Given the description of an element on the screen output the (x, y) to click on. 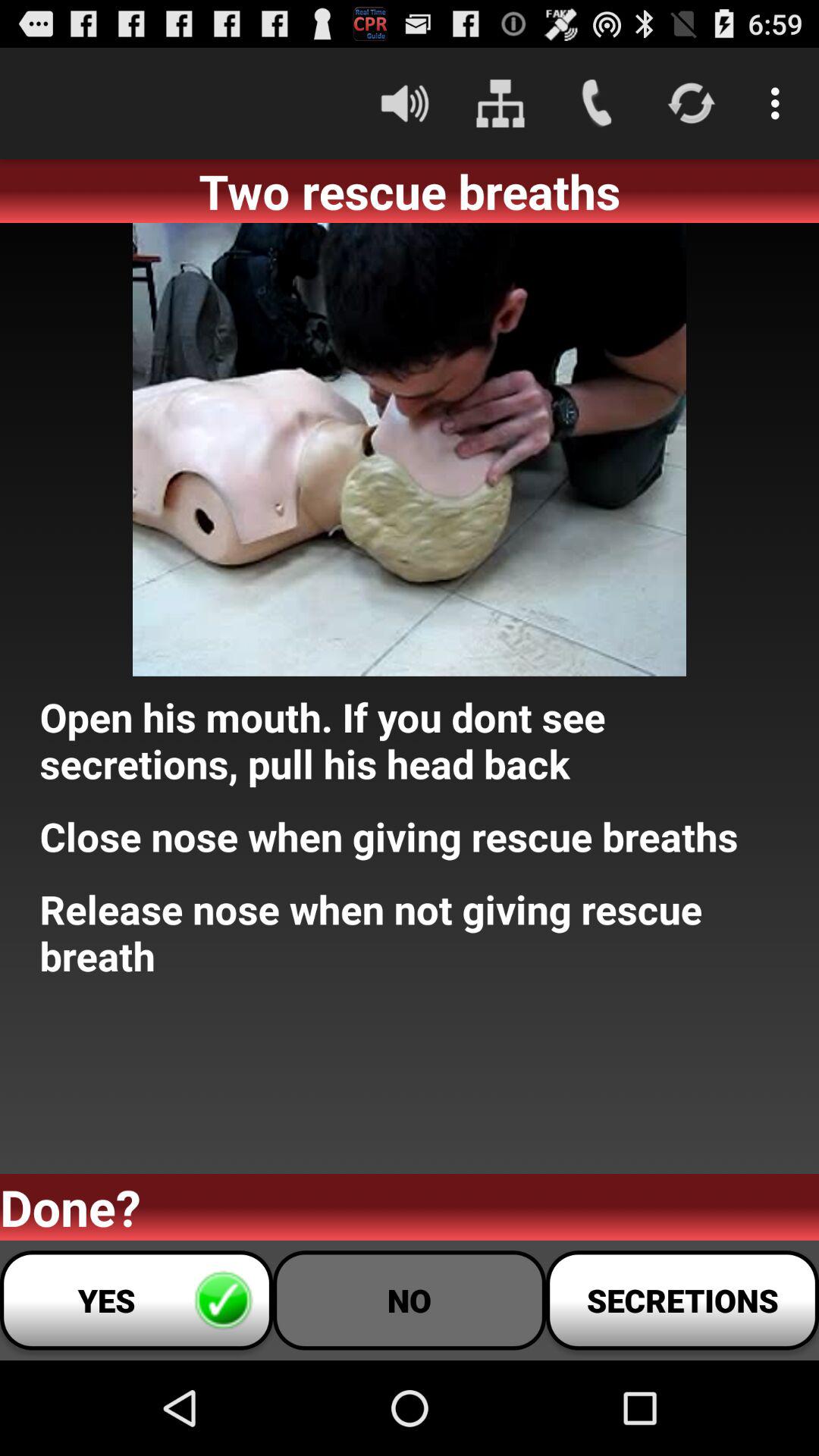
flip to yes (136, 1300)
